Given the description of an element on the screen output the (x, y) to click on. 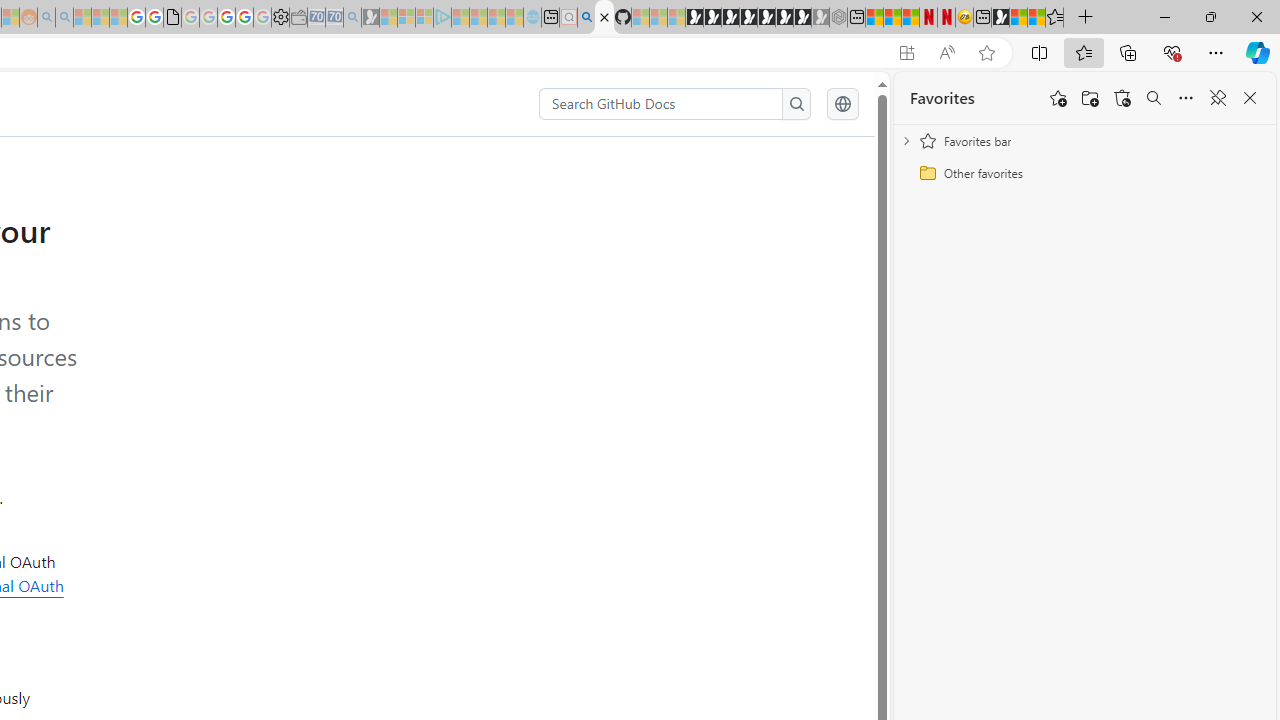
Favorites (1054, 17)
Collections (1128, 52)
Minimize (1164, 16)
Add this page to favorites (1058, 98)
Play Cave FRVR in your browser | Games from Microsoft Start (729, 17)
Favorites (942, 98)
Settings (280, 17)
Play Free Online Games | Games from Microsoft Start (694, 17)
